Given the description of an element on the screen output the (x, y) to click on. 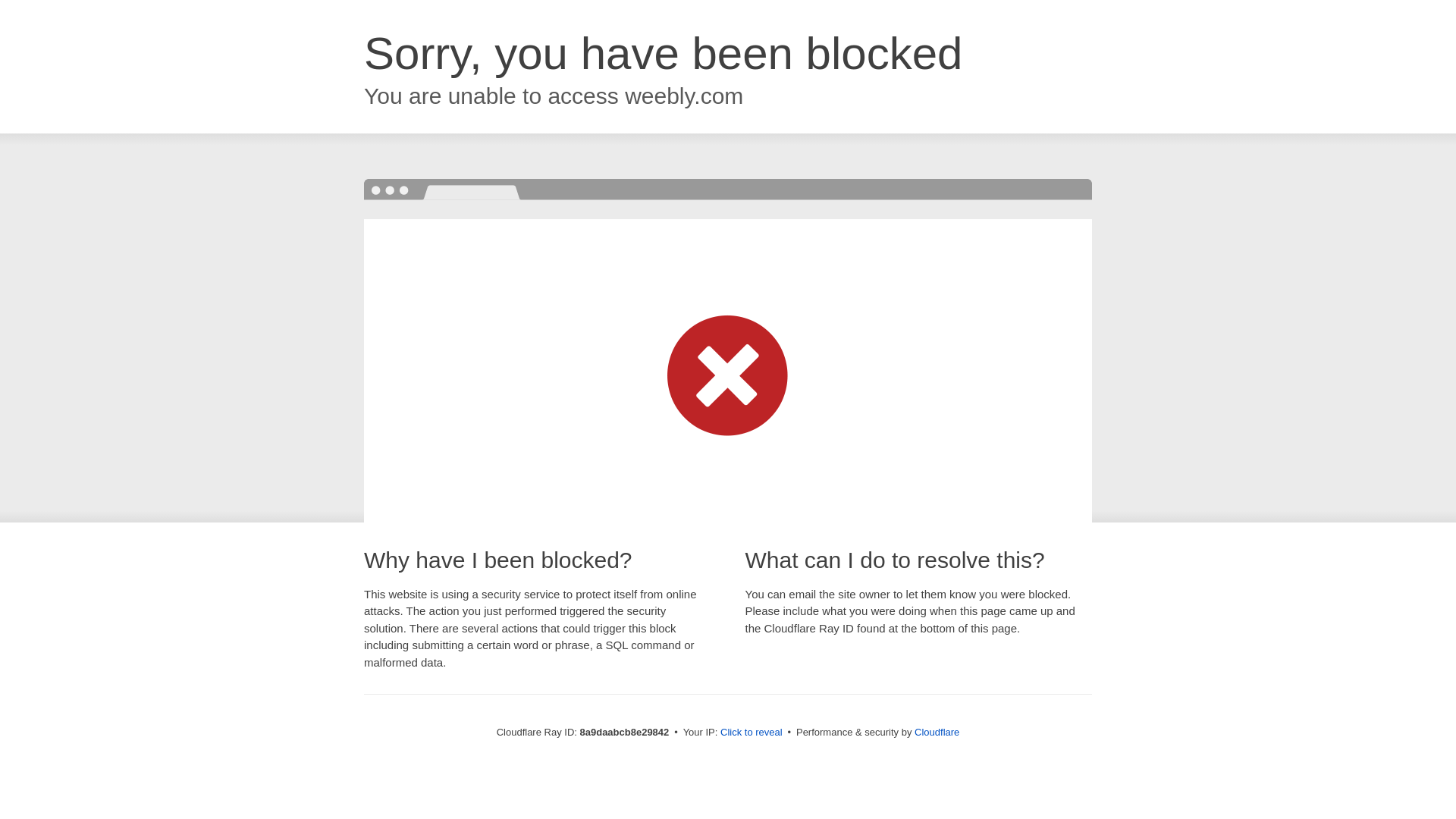
Cloudflare (936, 731)
Click to reveal (751, 732)
